Given the description of an element on the screen output the (x, y) to click on. 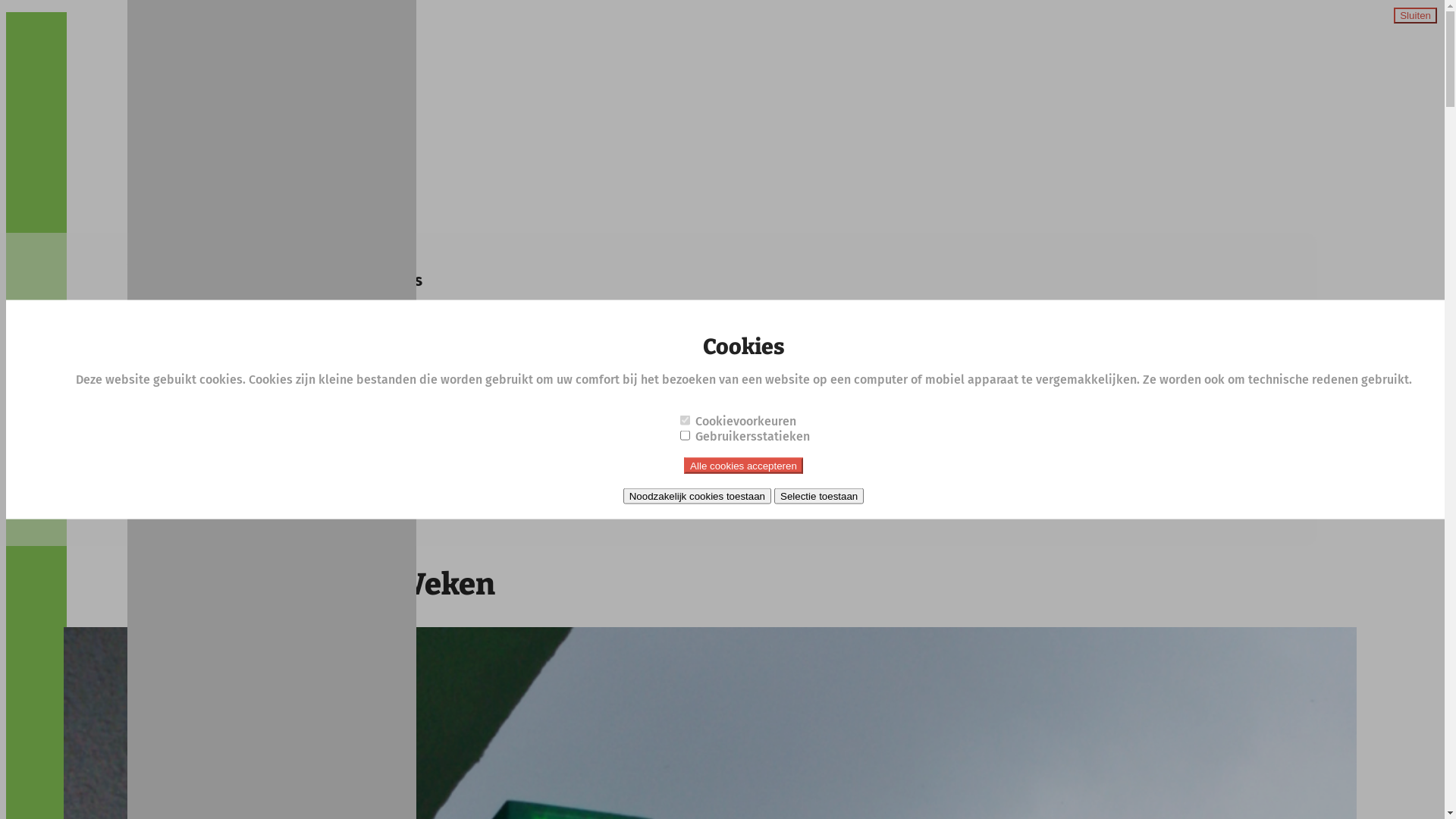
Alle cookies accepteren Element type: text (743, 465)
Sluiten Element type: text (1415, 15)
Contact Element type: text (196, 47)
Artikels Element type: text (197, 33)
Home Element type: text (191, 19)
Maak een afspraak Element type: text (264, 512)
Routebeschrijving Element type: text (181, 298)
apotheek@vanderweken.be Element type: text (251, 417)
www.apotheekvanderweken.be Element type: text (263, 452)
Reserveer hier Element type: text (167, 512)
Noodzakelijk cookies toestaan Element type: text (697, 495)
Selectie toestaan Element type: text (818, 495)
